Given the description of an element on the screen output the (x, y) to click on. 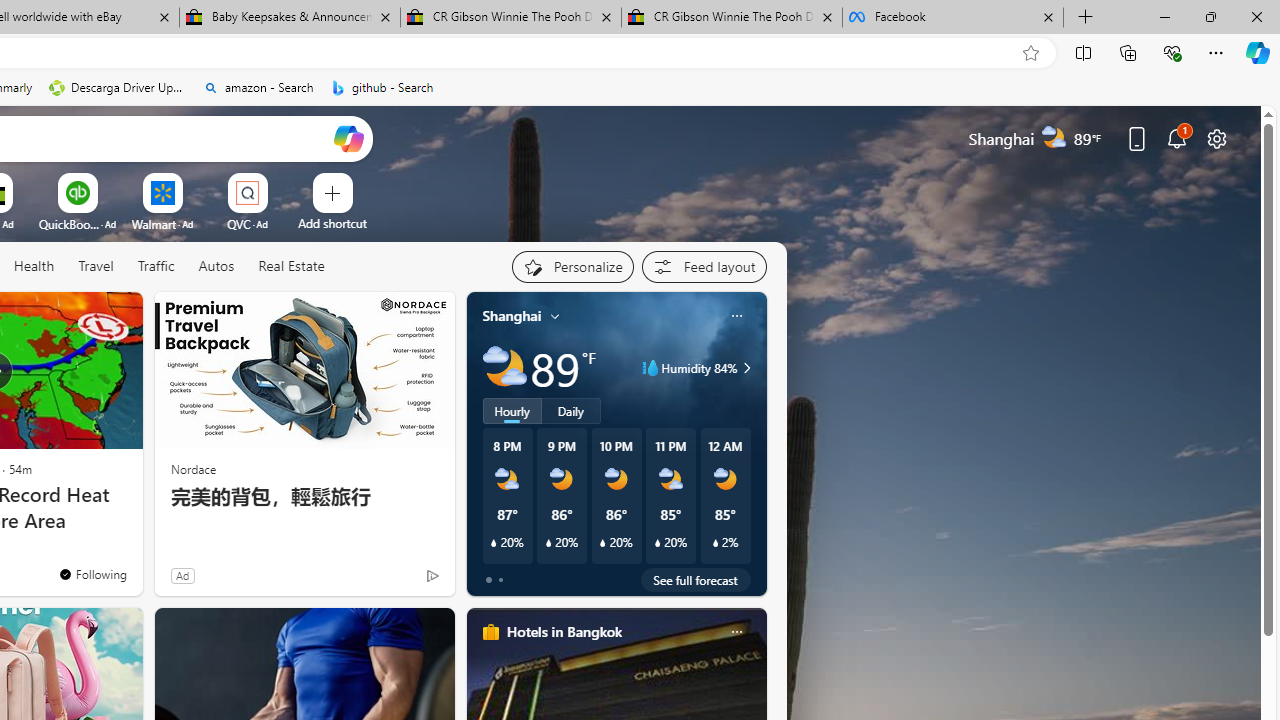
Add a site (332, 223)
More Options (279, 179)
Class: weather-arrow-glyph (746, 367)
Personalize your feed" (571, 266)
Class: weather-current-precipitation-glyph (715, 543)
